Given the description of an element on the screen output the (x, y) to click on. 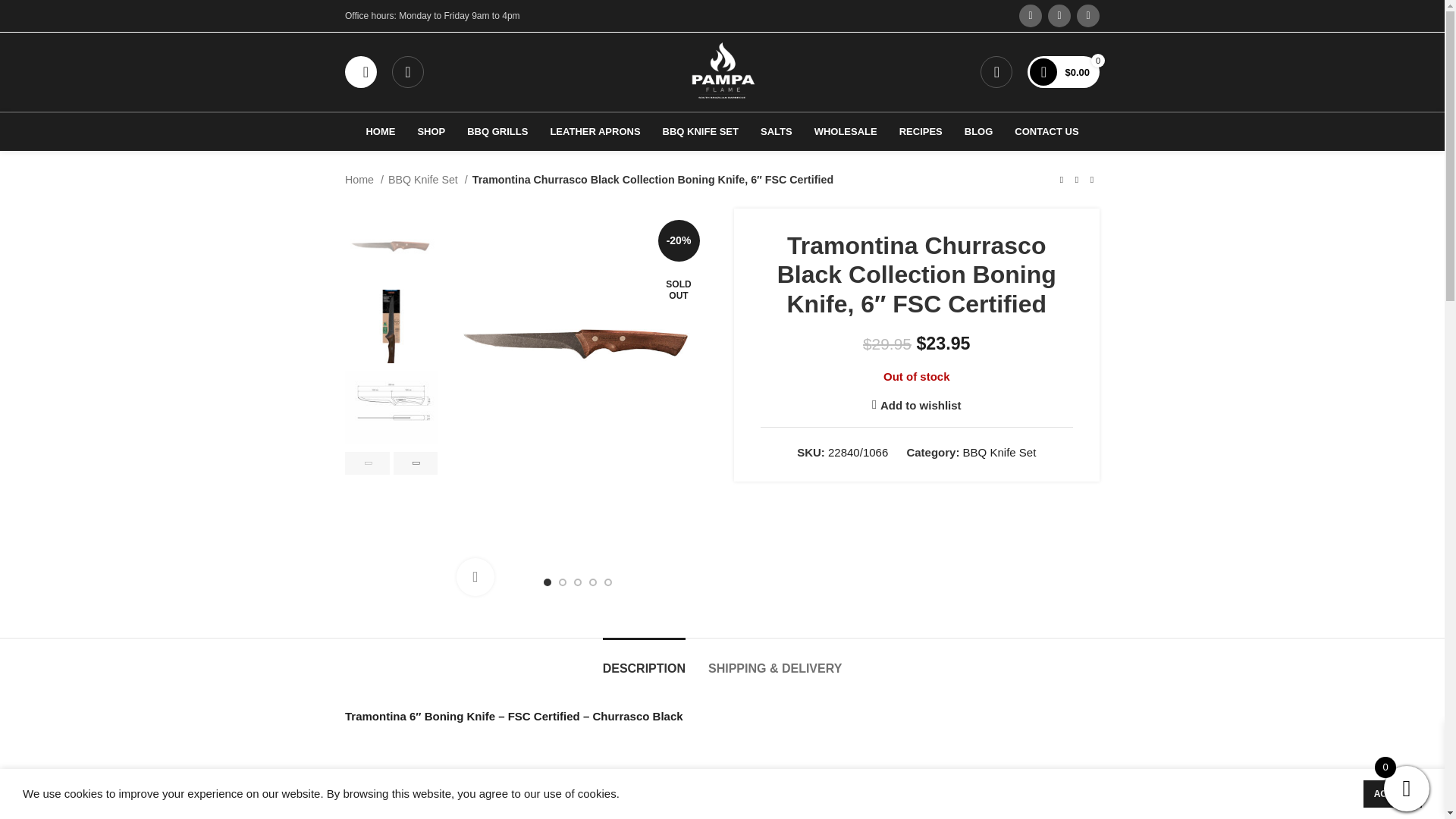
WHOLESALE (845, 132)
Shopping cart (1063, 71)
Add to wishlist (916, 404)
BLOG (979, 132)
Search (360, 71)
HOME (380, 132)
My Wishlist (407, 71)
SHOP (430, 132)
BBQ GRILLS (497, 132)
CONTACT US (1046, 132)
Home (364, 179)
LEATHER APRONS (594, 132)
BBQ KNIFE SET (700, 132)
SALTS (776, 132)
BBQ Knife Set (427, 179)
